Given the description of an element on the screen output the (x, y) to click on. 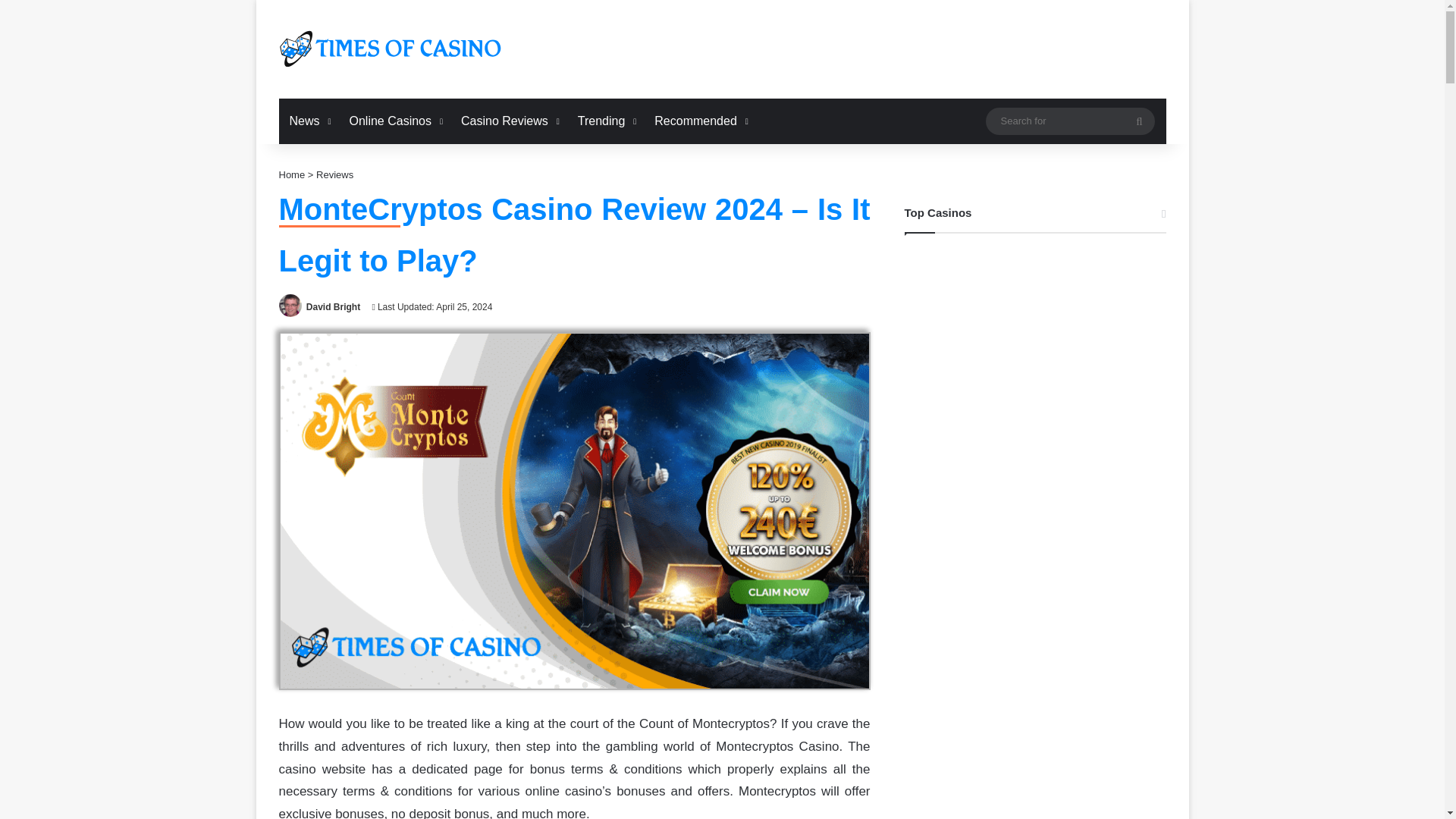
Online Casinos (395, 121)
News (309, 121)
Casino Reviews (508, 121)
Search for (1069, 121)
